Given the description of an element on the screen output the (x, y) to click on. 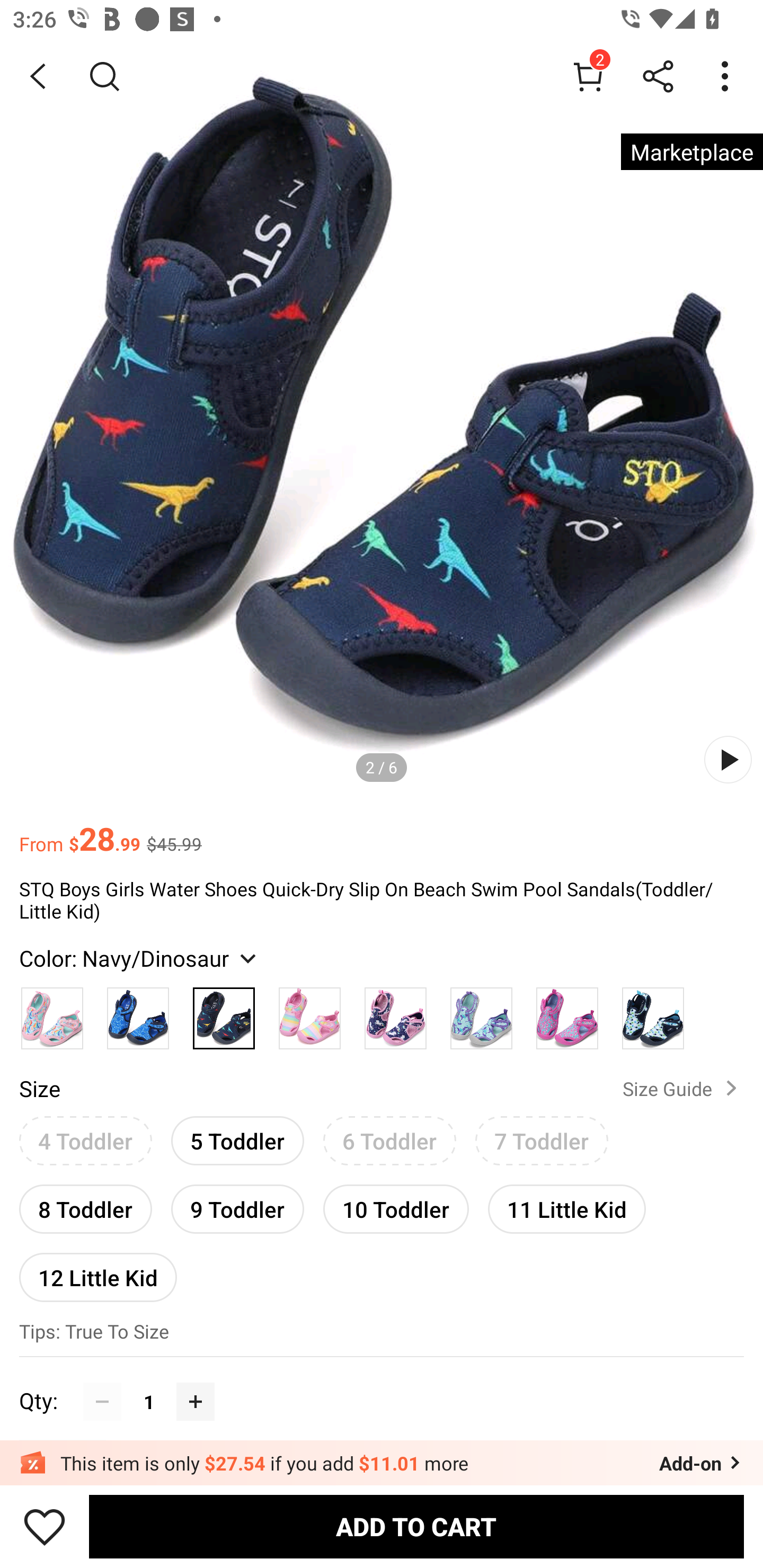
PHOTOS Marketplace 2 / 6 (381, 419)
BACK (38, 75)
2 (588, 75)
2 / 6 (381, 766)
From  $28.99 $45.99 (381, 830)
Color: Navy/Dinosaur (139, 957)
Pink /Sailing Boat (52, 1013)
Royal Blue/Shark (138, 1013)
Navy/Dinosaur (224, 1013)
Pink/Rainbow (309, 1013)
Purple (395, 1013)
Light Blue/Dolphin (481, 1013)
Rose /Dolphin (567, 1013)
Light Blue/Whale (652, 1013)
Size (39, 1087)
Size Guide (682, 1087)
4 Toddler (85, 1140)
5 Toddler 5 Toddlerunselected option (237, 1140)
6 Toddler (389, 1140)
7 Toddler (541, 1140)
8 Toddler 8 Toddlerunselected option (85, 1208)
9 Toddler 9 Toddlerunselected option (237, 1208)
10 Toddler 10 Toddlerunselected option (396, 1208)
11 Little Kid 11 Little Kidunselected option (567, 1208)
12 Little Kid 12 Little Kidunselected option (98, 1276)
Tips: True To Size (381, 1332)
Qty: 1 (381, 1381)
Add-on (701, 1462)
ADD TO CART (416, 1526)
Save (44, 1526)
